Given the description of an element on the screen output the (x, y) to click on. 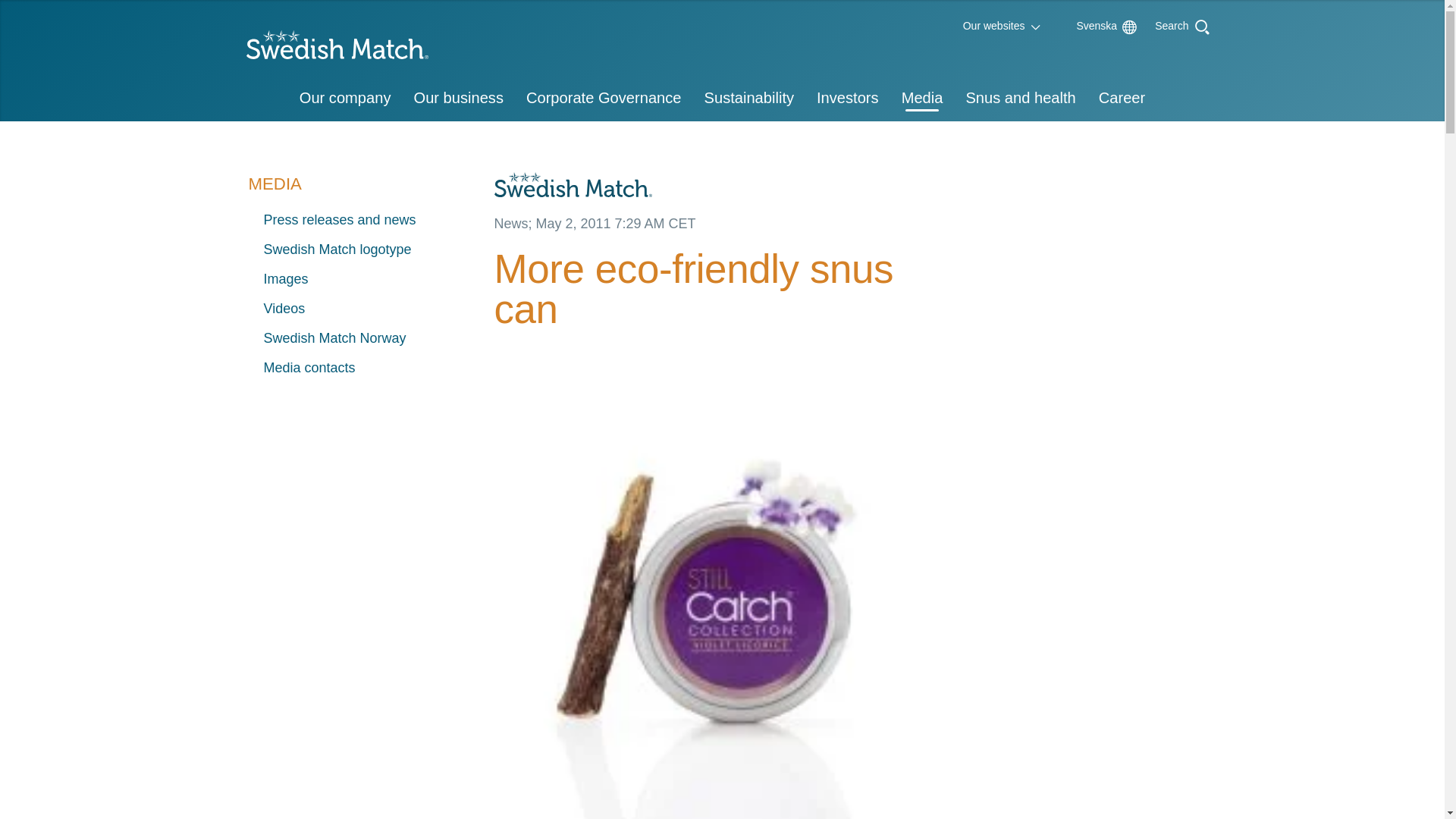
Svenska (1089, 25)
Swedish Match (331, 48)
Search (1171, 23)
Our websites (994, 25)
Our company (345, 98)
Our business (457, 98)
